Given the description of an element on the screen output the (x, y) to click on. 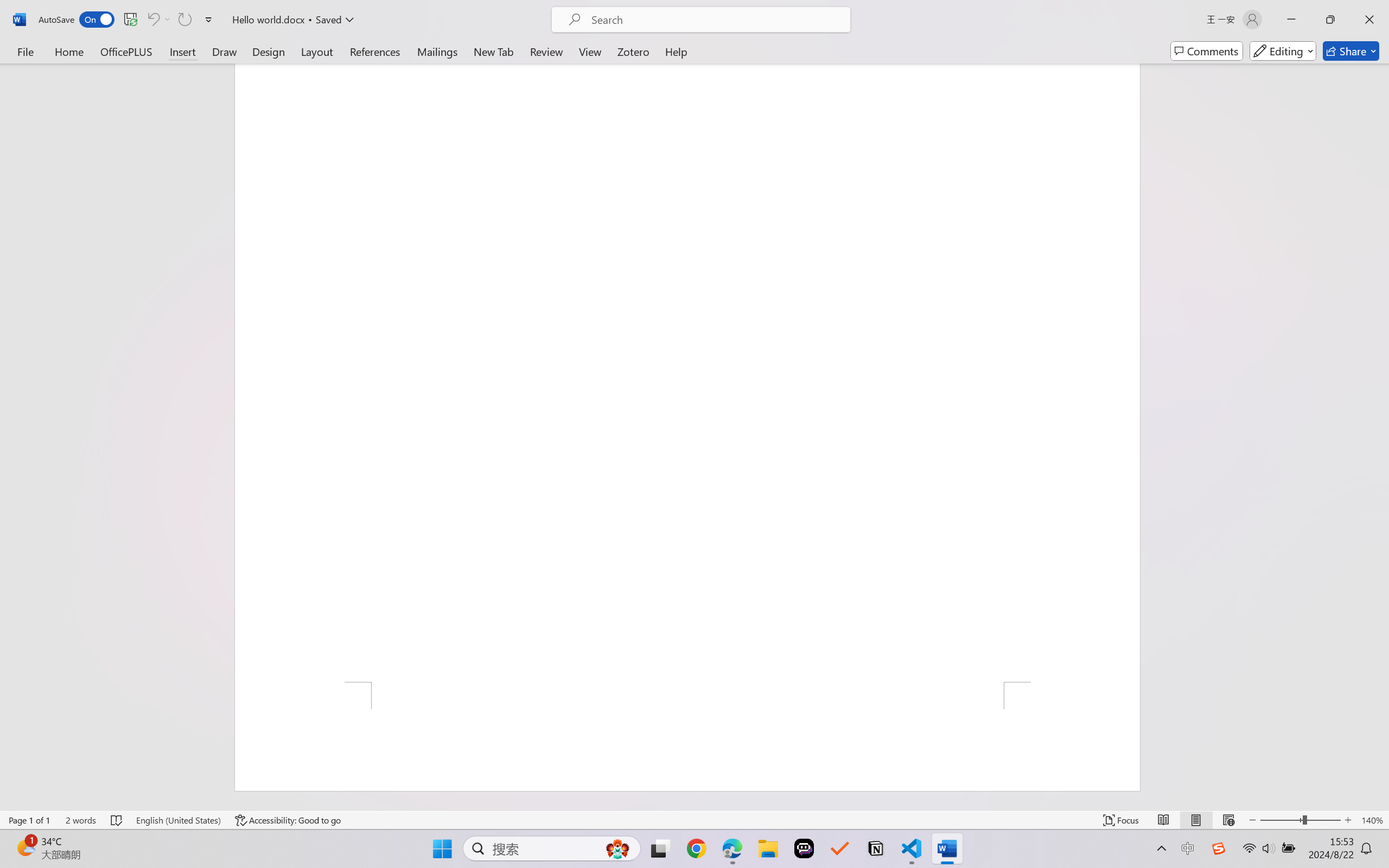
Quick Access Toolbar (127, 19)
Zoom In (1348, 819)
AutomationID: DynamicSearchBoxGleamImage (617, 848)
View (589, 51)
Help (675, 51)
Home (69, 51)
References (375, 51)
Minimize (1291, 19)
More Options (167, 19)
